Given the description of an element on the screen output the (x, y) to click on. 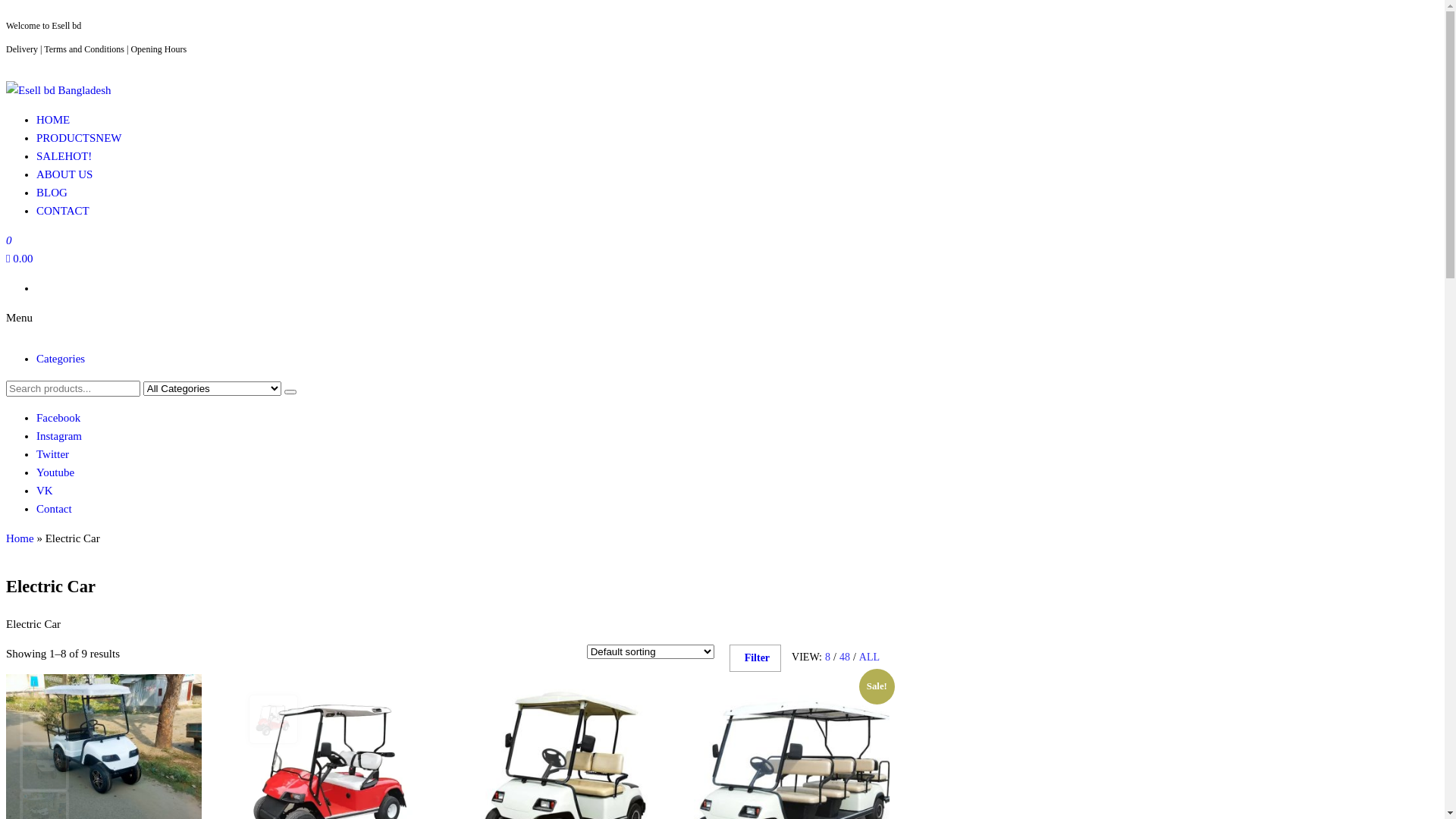
Log in Element type: text (447, 459)
Filter Element type: text (755, 657)
Twitter Element type: text (52, 454)
Instagram Element type: text (58, 435)
PRODUCTSNEW Element type: text (79, 137)
CONTACT Element type: text (62, 210)
Youtube Element type: text (55, 472)
Facebook Element type: text (58, 417)
ABOUT US Element type: text (64, 174)
BLOG Element type: text (51, 192)
48 Element type: text (844, 656)
SALEHOT! Element type: text (63, 156)
Skip to the content Element type: text (5, 5)
Esell bd electric golf car, cargo van, sales Bangladesh Element type: text (128, 119)
ALL Element type: text (869, 656)
HOME Element type: text (52, 119)
Categories Element type: text (60, 358)
8 Element type: text (827, 656)
Contact Element type: text (54, 508)
Home Element type: text (20, 538)
VK Element type: text (44, 490)
